Given the description of an element on the screen output the (x, y) to click on. 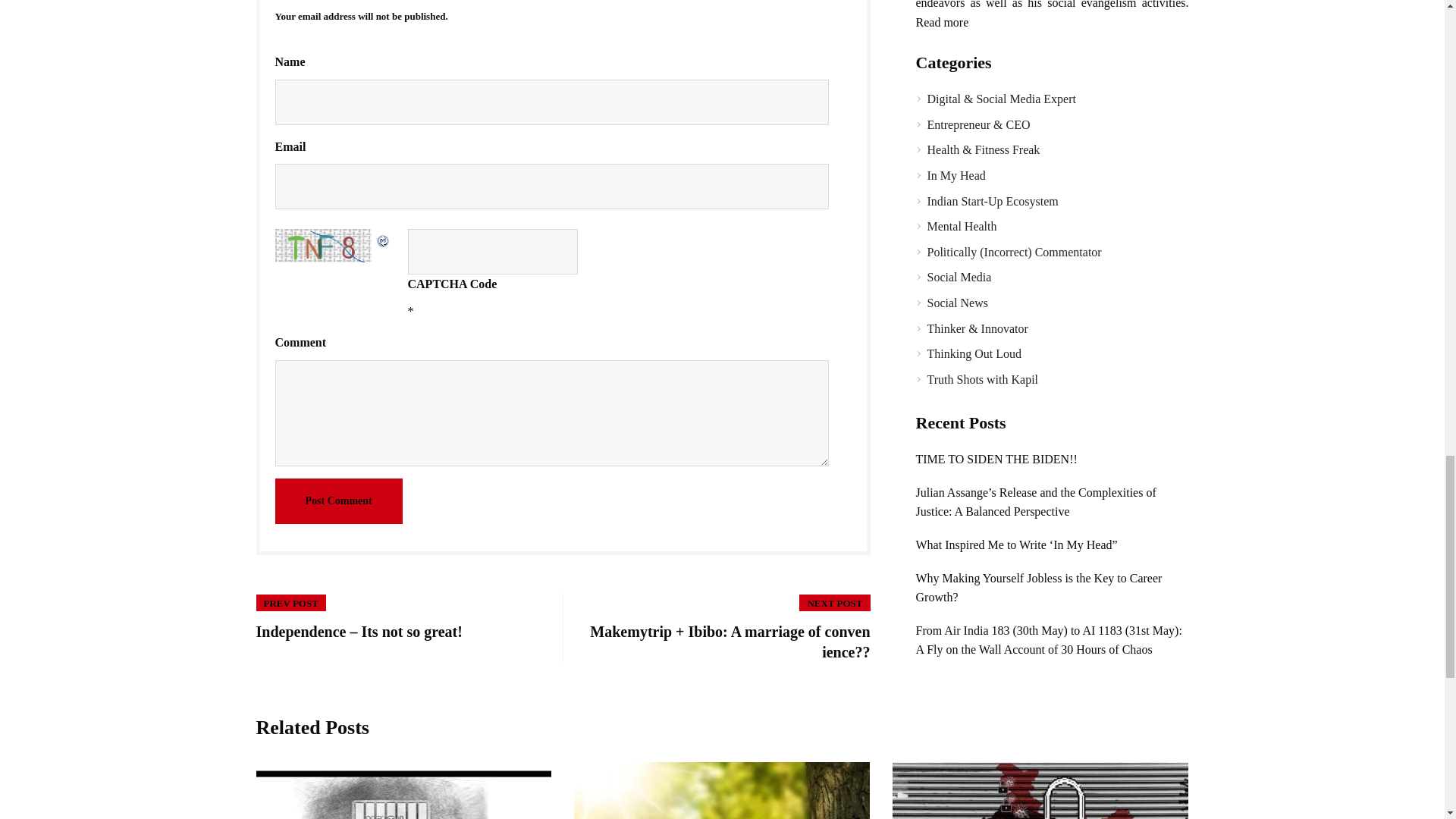
Post Comment (338, 501)
